Given the description of an element on the screen output the (x, y) to click on. 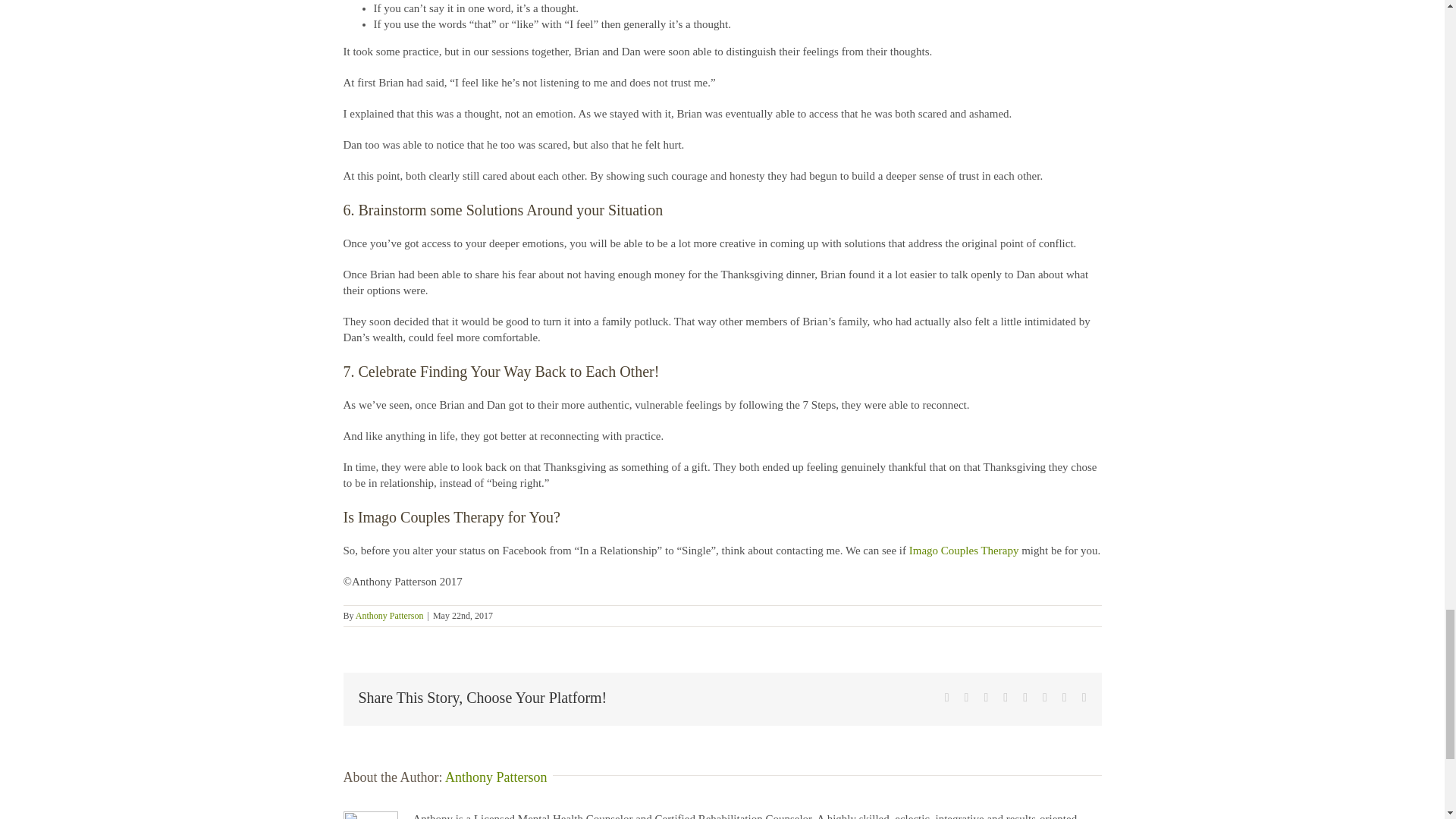
Anthony Patterson (496, 776)
Posts by Anthony Patterson (496, 776)
Anthony Patterson (389, 615)
Imago Couples Therapy (963, 550)
Posts by Anthony Patterson (389, 615)
